Given the description of an element on the screen output the (x, y) to click on. 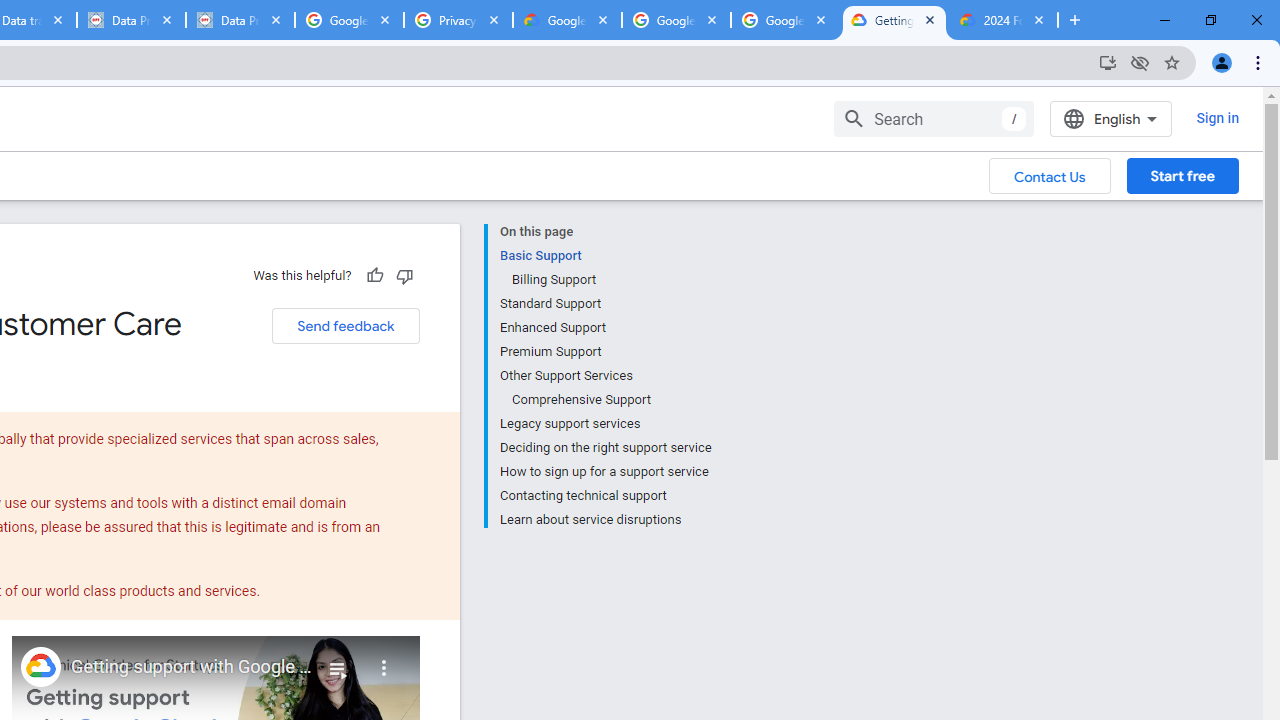
Google Cloud Terms Directory | Google Cloud (567, 20)
More (384, 660)
Standard Support (605, 304)
Send feedback (345, 326)
Learn about service disruptions (605, 517)
Legacy support services (605, 423)
Playlist (337, 660)
Deciding on the right support service (605, 448)
